Given the description of an element on the screen output the (x, y) to click on. 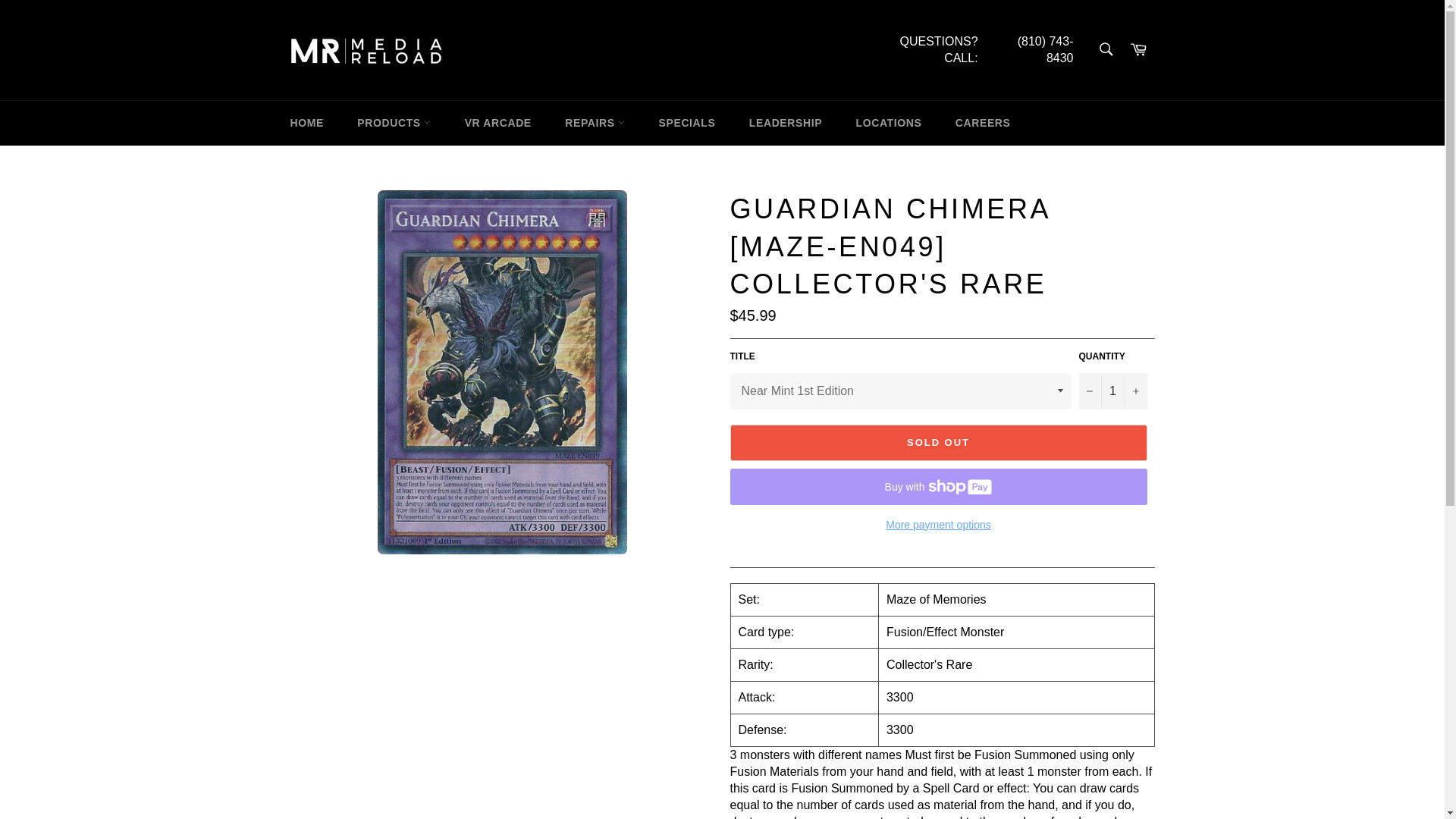
VR ARCADE (498, 122)
PRODUCTS (393, 122)
Search (1104, 49)
LEADERSHIP (785, 122)
1 (1112, 391)
Cart (1138, 50)
HOME (306, 122)
REPAIRS (595, 122)
LOCATIONS (889, 122)
SPECIALS (686, 122)
